Given the description of an element on the screen output the (x, y) to click on. 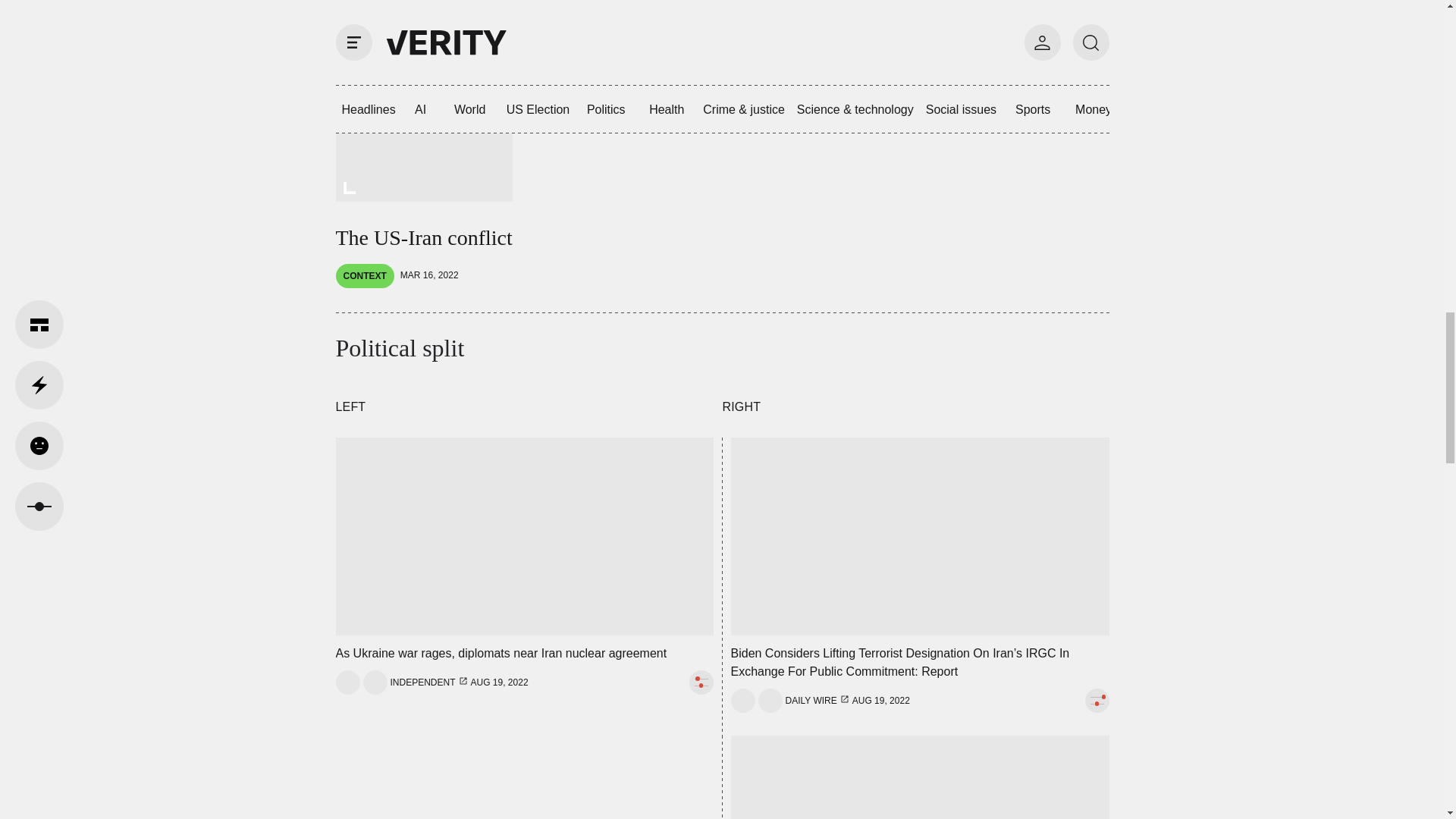
LR : 5 CP : 3 (1096, 700)
Independent (422, 682)
The US-Iran conflict (423, 194)
Daily Wire (811, 700)
